Given the description of an element on the screen output the (x, y) to click on. 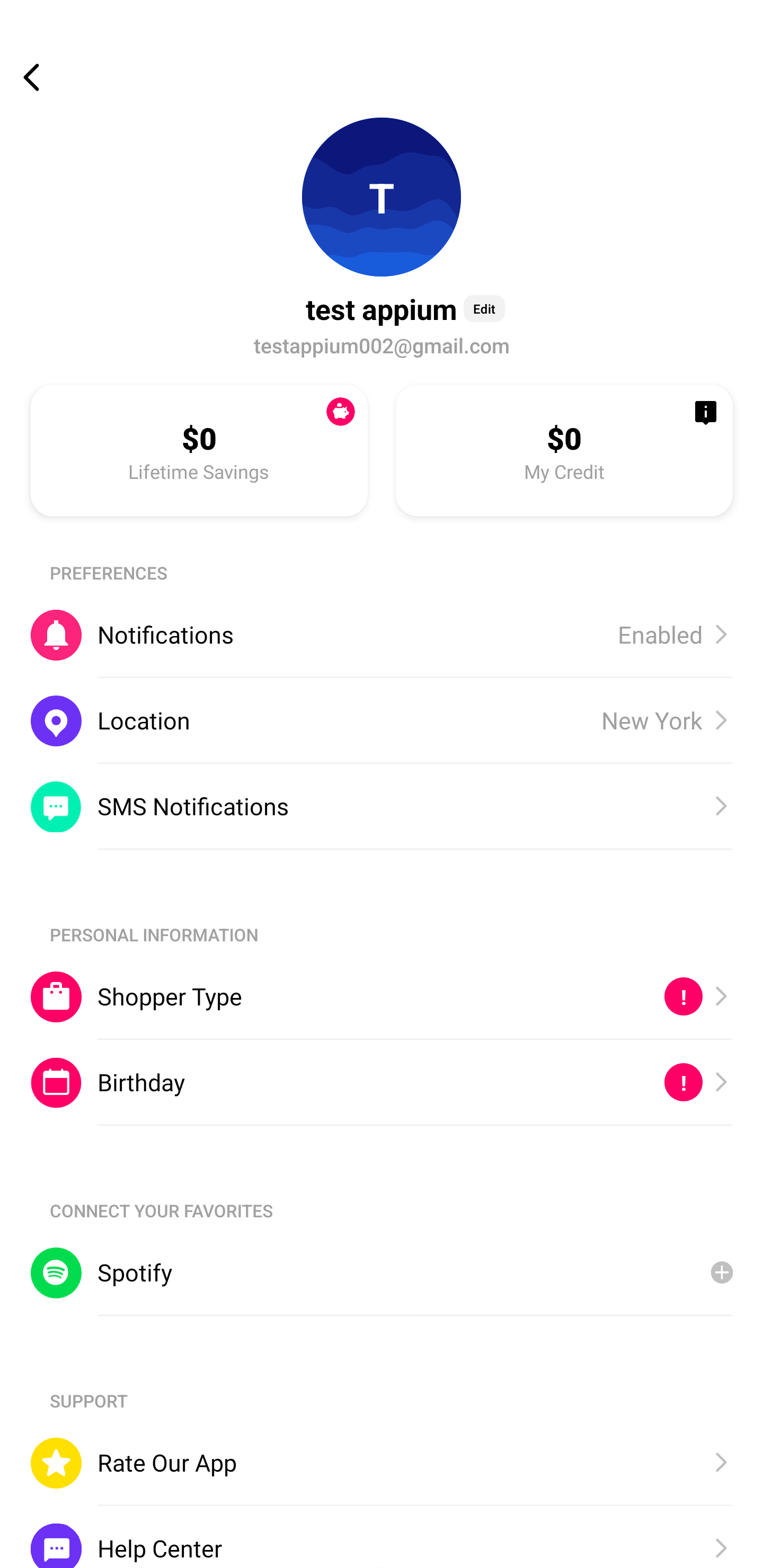
T (381, 196)
Edit (484, 307)
$0, Lifetime Savings $0 Lifetime Savings (198, 449)
$0, My Credit $0 My Credit (563, 449)
Location, New York Location New York (381, 720)
SMS Notifications,    SMS Notifications    (381, 806)
Shopper Type,   , ! Shopper Type    ! (381, 996)
Birthday,   , ! Birthday    ! (381, 1082)
Spotify,    Spotify    (381, 1272)
Rate Our App,    Rate Our App    (381, 1462)
Help Center,    Help Center    (381, 1536)
